Given the description of an element on the screen output the (x, y) to click on. 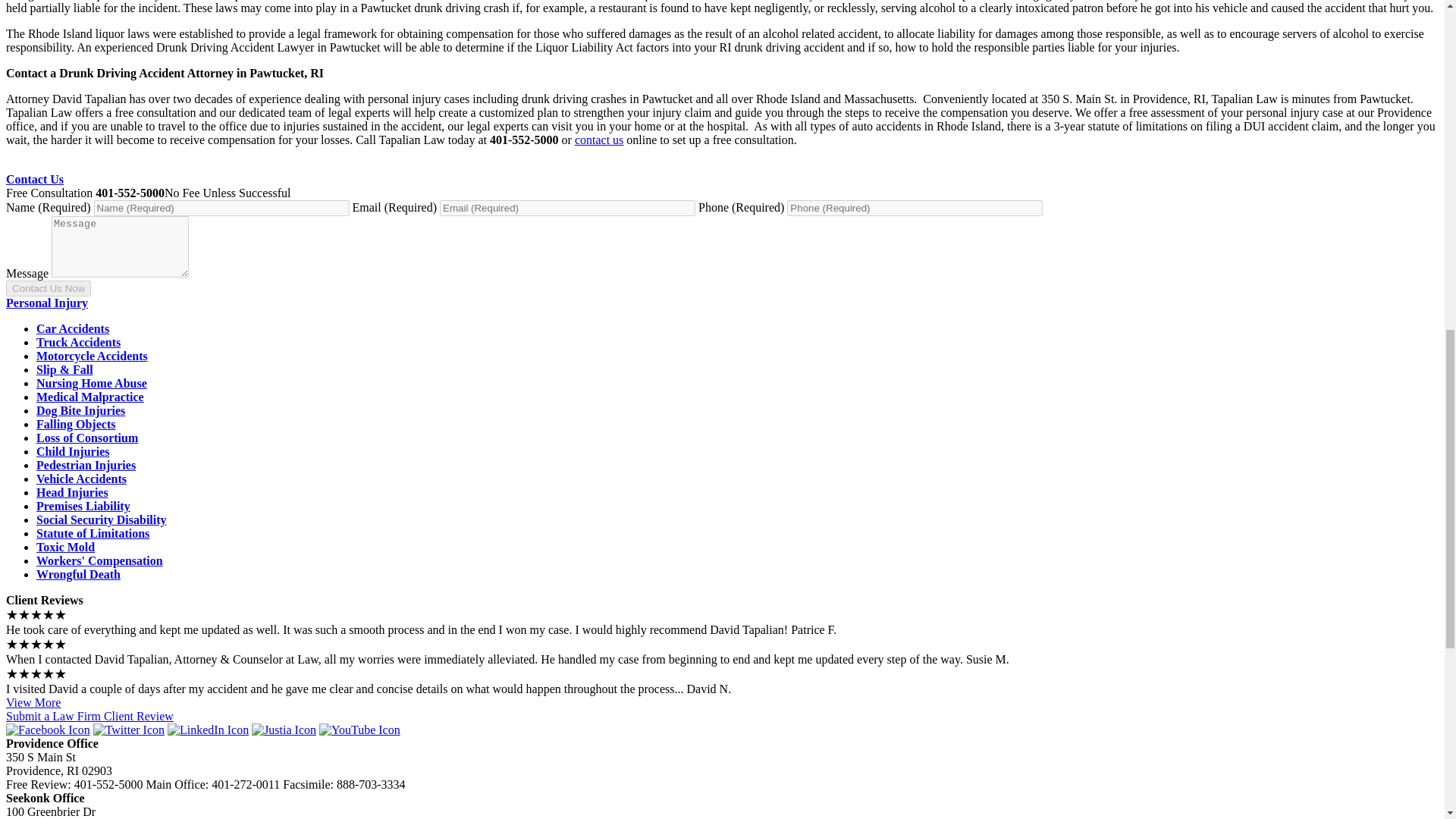
Vehicle Accidents (81, 478)
Facebook (47, 729)
Child Injuries (72, 451)
Loss of Consortium (87, 437)
Medical Malpractice (90, 396)
Car Accidents (72, 328)
LinkedIn (207, 729)
Contact Us (34, 178)
Truck Accidents (78, 341)
